Given the description of an element on the screen output the (x, y) to click on. 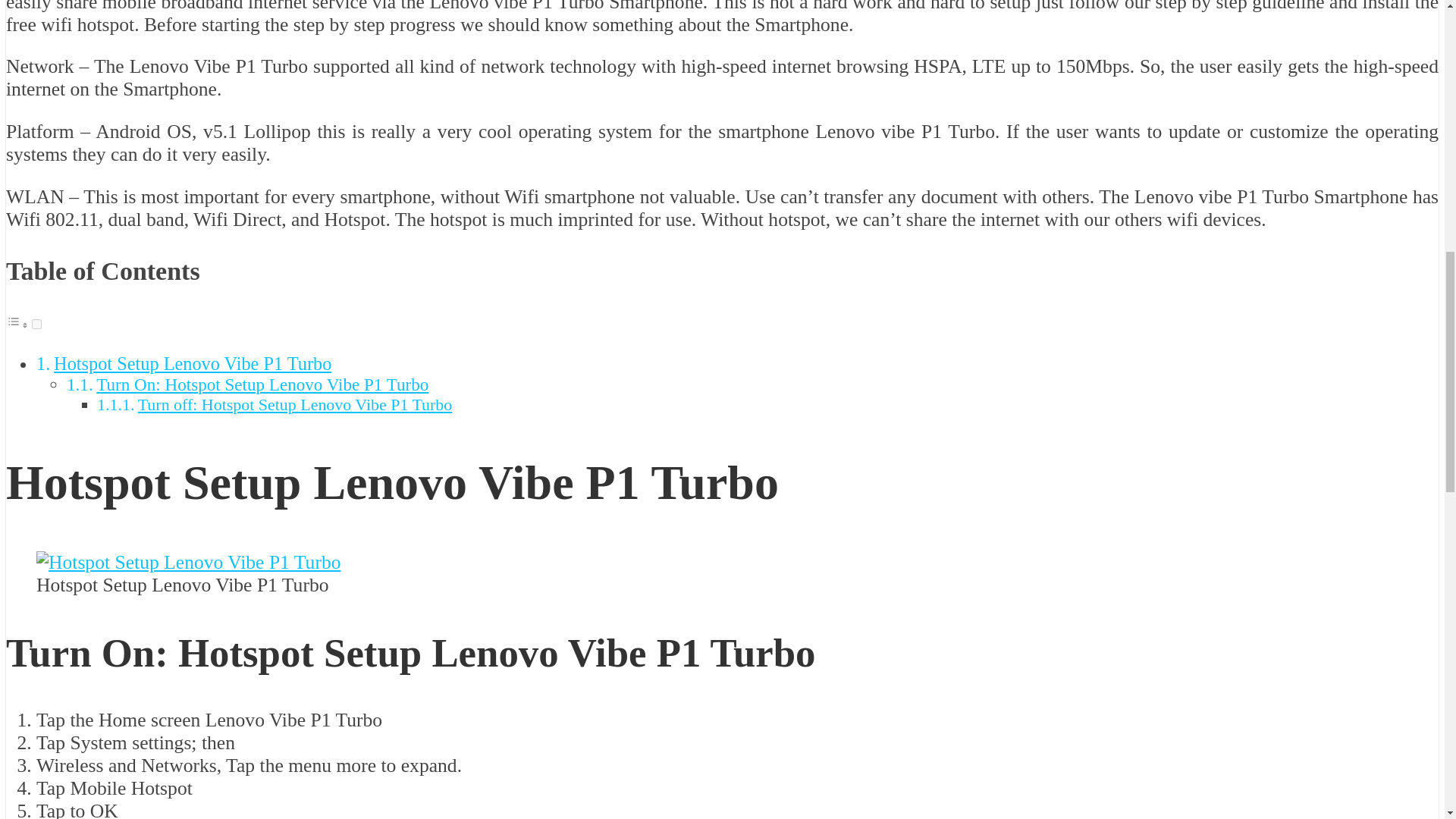
Turn On: Hotspot Setup Lenovo Vibe P1 Turbo (262, 383)
Turn off: Hotspot Setup Lenovo Vibe P1 Turbo (295, 404)
Turn On: Hotspot Setup Lenovo Vibe P1 Turbo (262, 383)
Turn off: Hotspot Setup Lenovo Vibe P1 Turbo (295, 404)
on (37, 324)
Hotspot Setup Lenovo Vibe P1 Turbo (192, 362)
Hotspot Setup Lenovo Vibe P1 Turbo (192, 362)
